Given the description of an element on the screen output the (x, y) to click on. 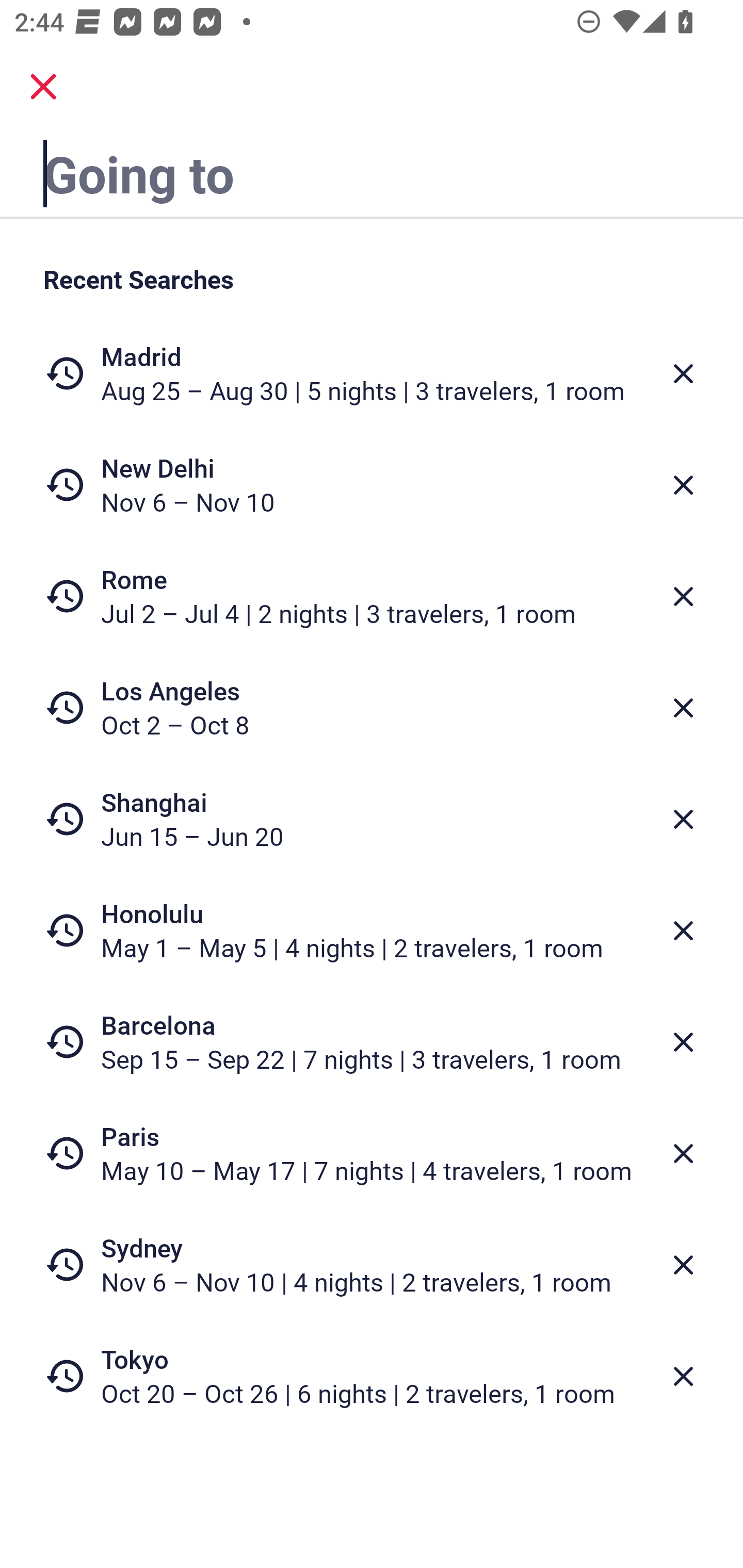
close. (43, 86)
Delete from recent searches (683, 373)
New Delhi Nov 6 – Nov 10 (371, 484)
Delete from recent searches (683, 485)
Delete from recent searches (683, 596)
Los Angeles Oct 2 – Oct 8 (371, 707)
Delete from recent searches (683, 707)
Shanghai Jun 15 – Jun 20 (371, 818)
Delete from recent searches (683, 819)
Delete from recent searches (683, 930)
Delete from recent searches (683, 1041)
Delete from recent searches (683, 1153)
Delete from recent searches (683, 1265)
Delete from recent searches (683, 1376)
